Given the description of an element on the screen output the (x, y) to click on. 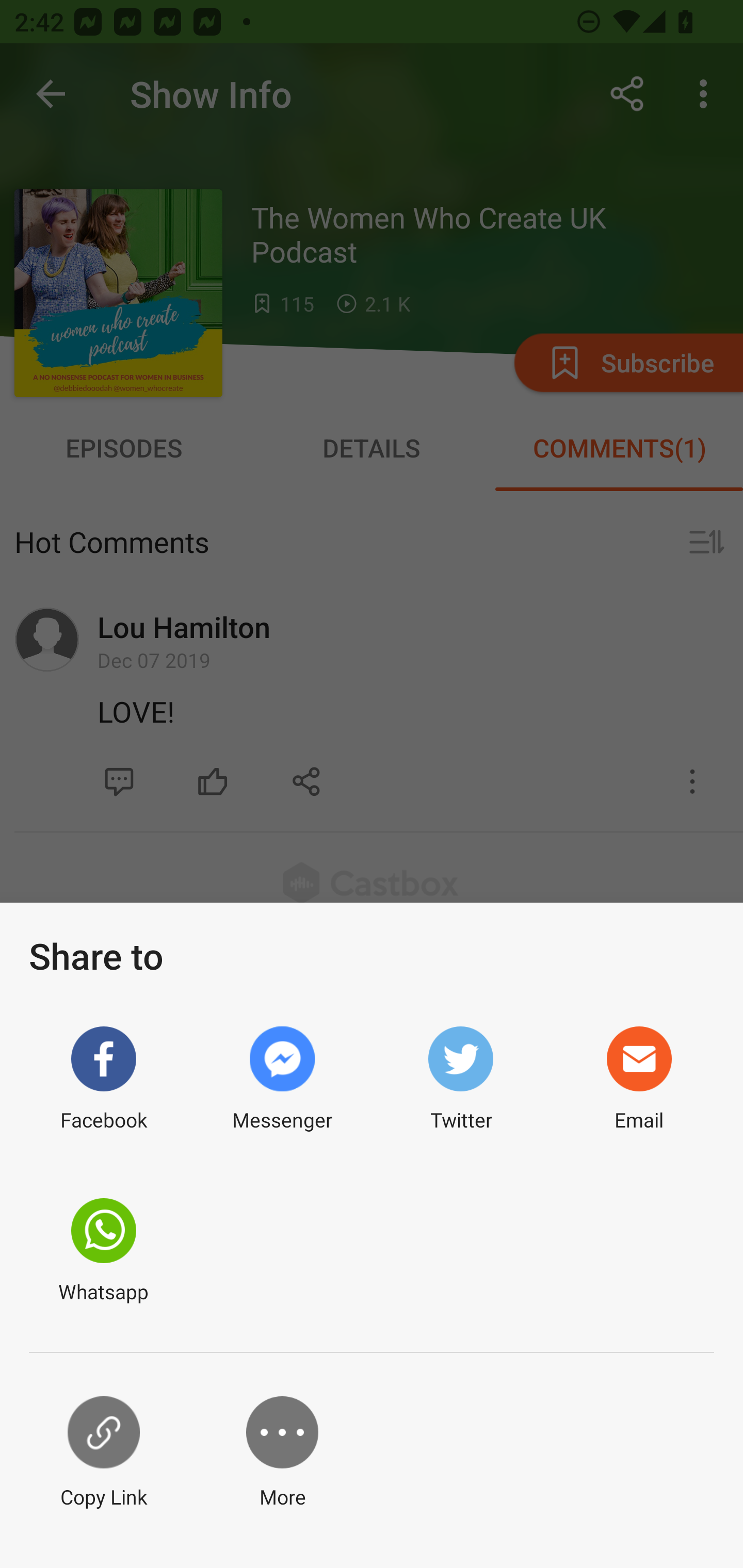
Facebook (103, 1079)
Messenger (282, 1079)
Twitter (460, 1079)
Email (638, 1079)
Whatsapp (103, 1251)
Copy Link (103, 1453)
More (282, 1453)
